Given the description of an element on the screen output the (x, y) to click on. 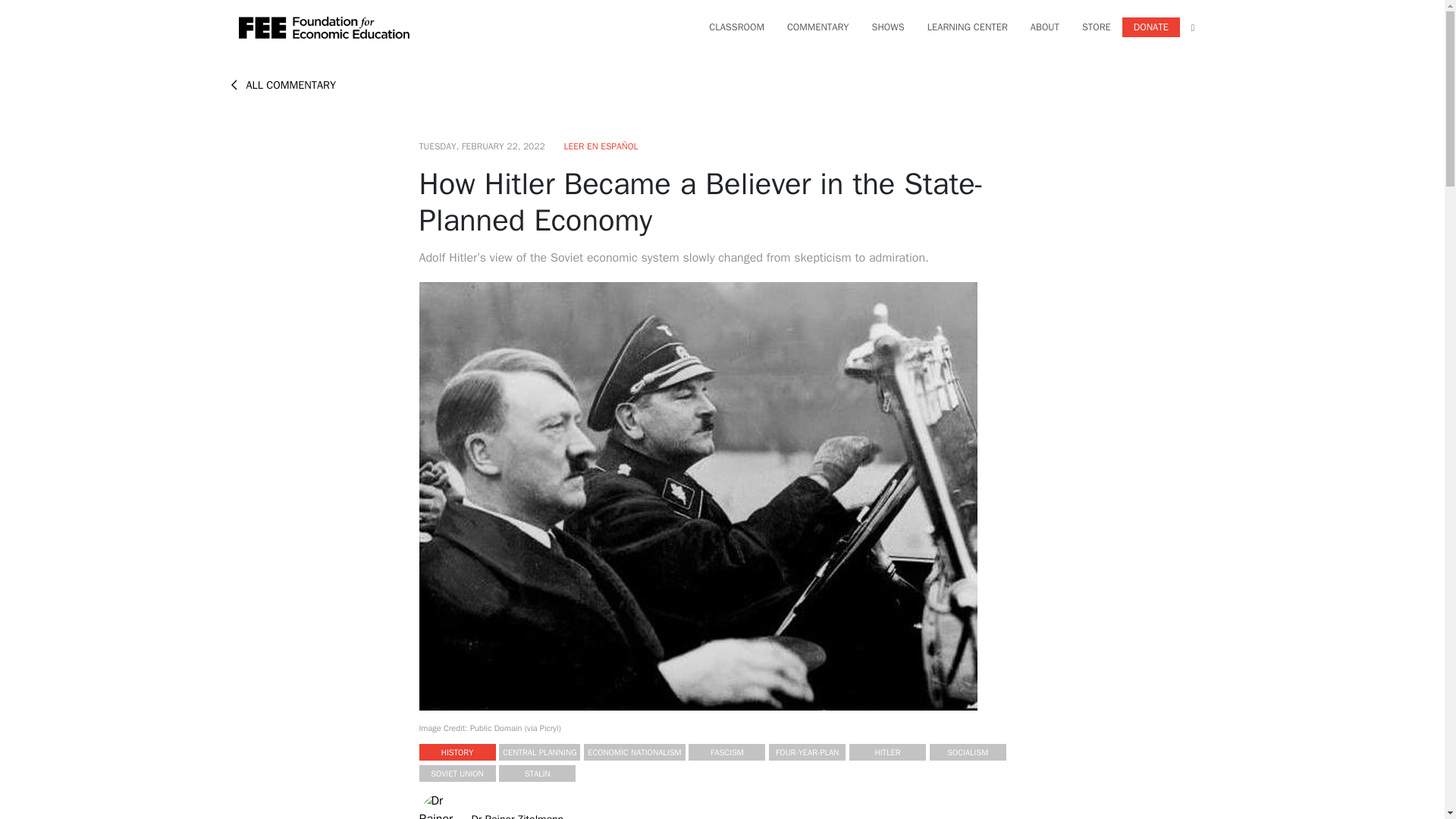
FOUR-YEAR-PLAN (807, 752)
HISTORY (457, 752)
Dr Rainer Zitelmann (517, 816)
ALL COMMENTARY (282, 84)
Dr Rainer Zitelmann (444, 814)
DONATE (1150, 26)
SOVIET UNION (456, 773)
CENTRAL PLANNING (539, 752)
COMMENTARY (818, 26)
HITLER (887, 752)
